Given the description of an element on the screen output the (x, y) to click on. 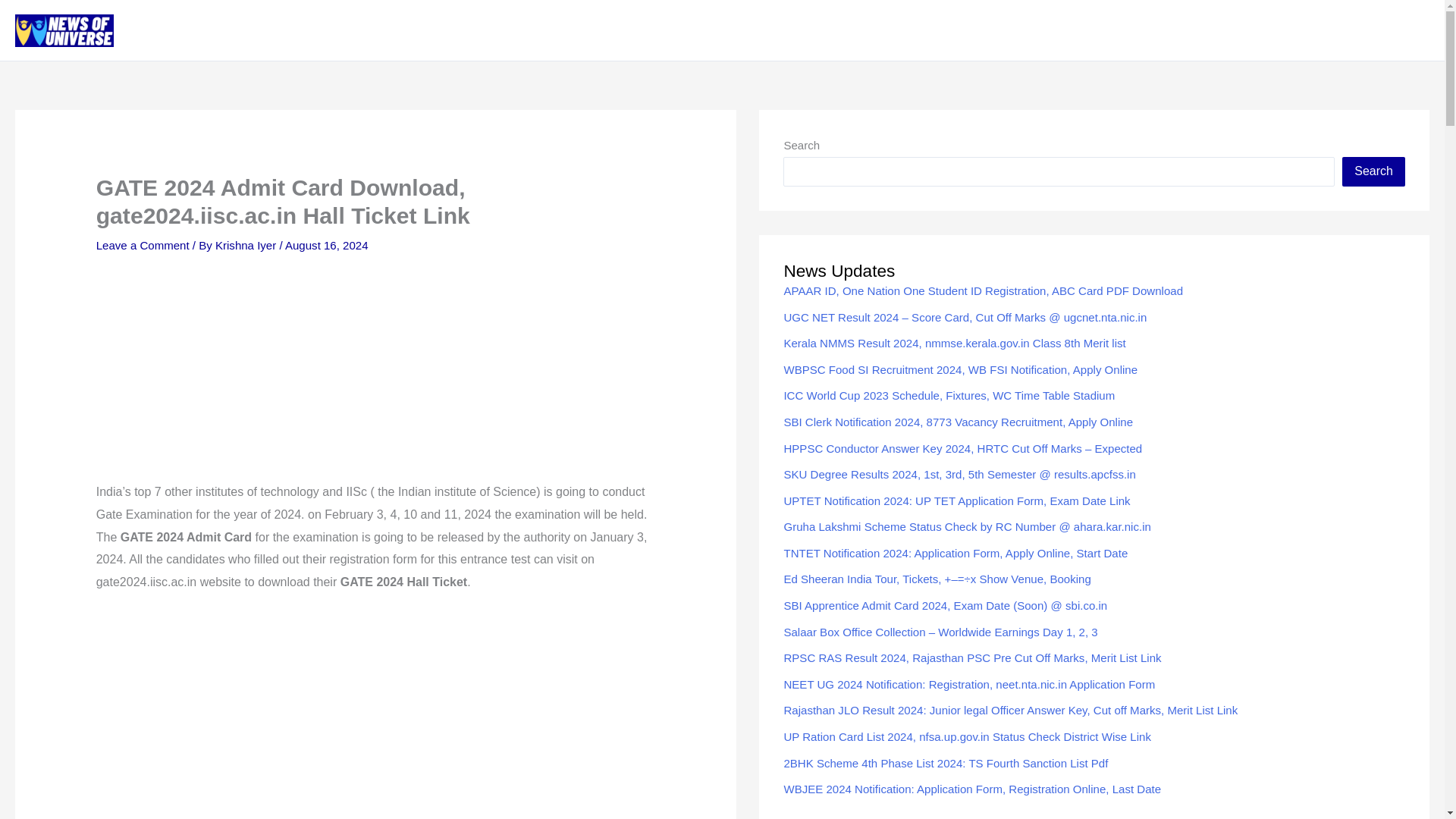
Time Table (1387, 30)
Advertisement (375, 372)
About Us (999, 30)
Admit Card (1244, 30)
Contact (1169, 30)
Home (933, 30)
Privacy Policy (1086, 30)
Advertisement (376, 715)
View all posts by Krishna Iyer (247, 245)
Result (1316, 30)
